Given the description of an element on the screen output the (x, y) to click on. 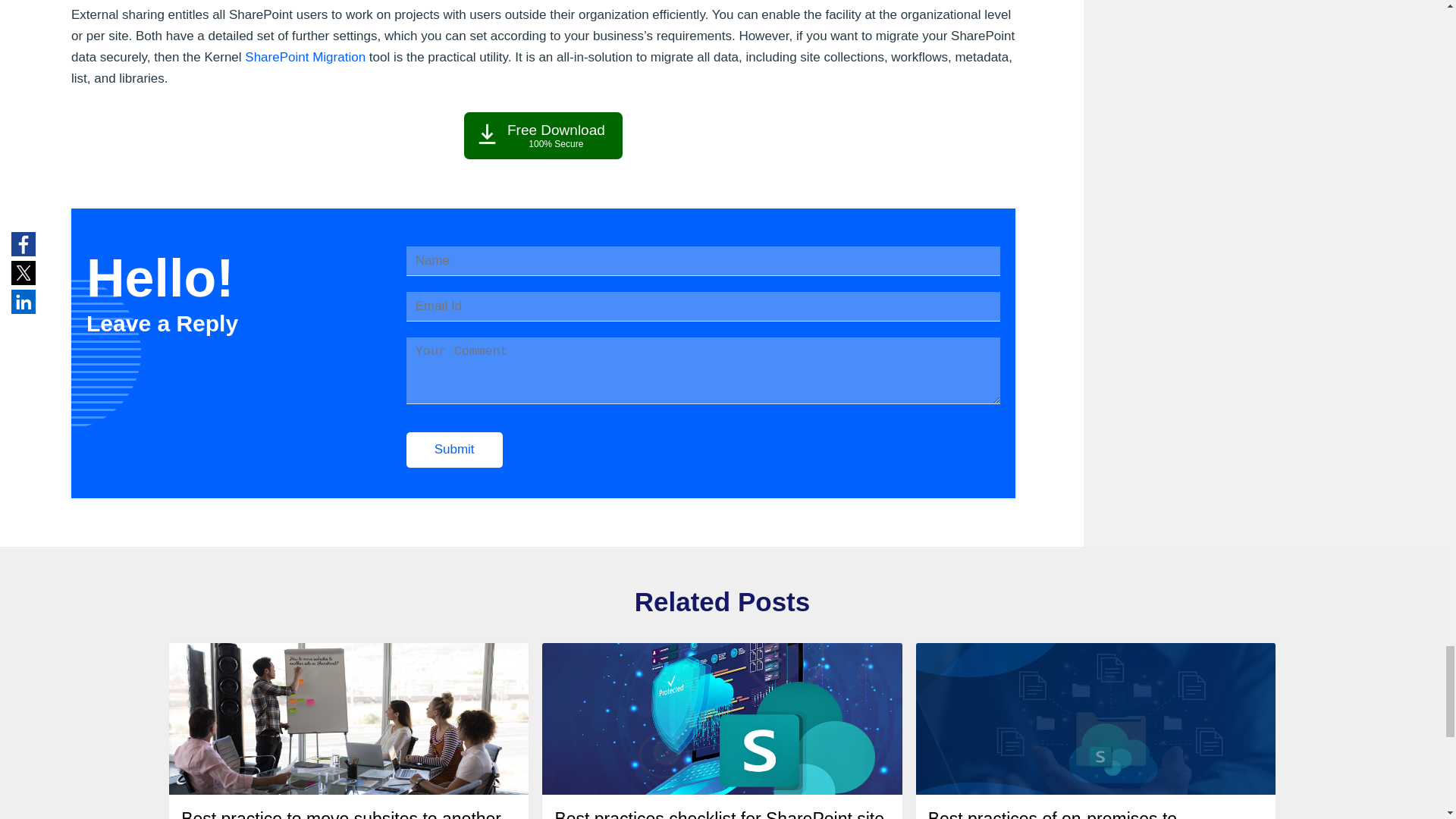
Submit (454, 449)
